Given the description of an element on the screen output the (x, y) to click on. 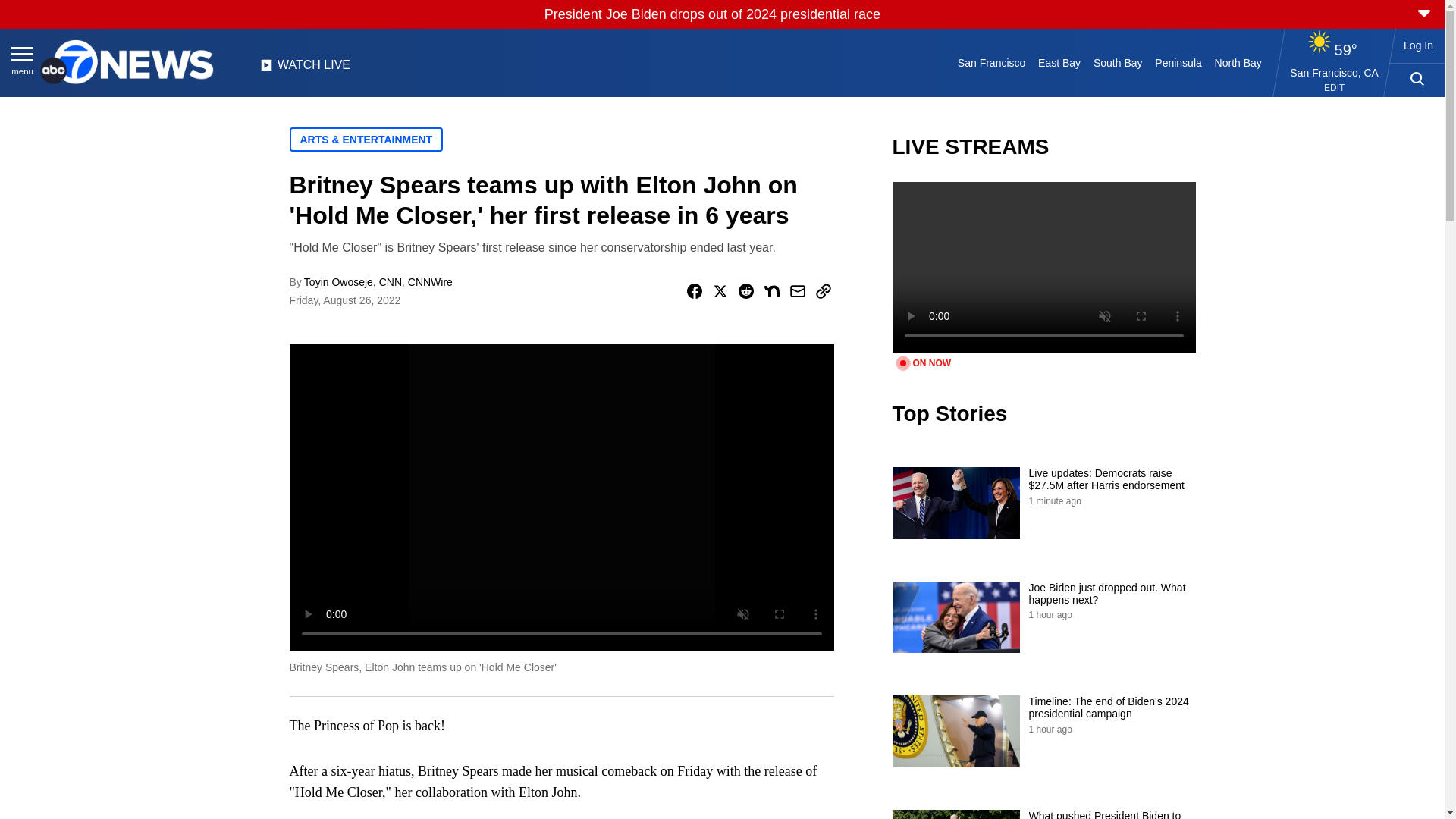
South Bay (1117, 62)
East Bay (1059, 62)
North Bay (1238, 62)
San Francisco, CA (1334, 72)
video.title (1043, 266)
WATCH LIVE (305, 69)
EDIT (1333, 87)
San Francisco (990, 62)
Peninsula (1178, 62)
